Given the description of an element on the screen output the (x, y) to click on. 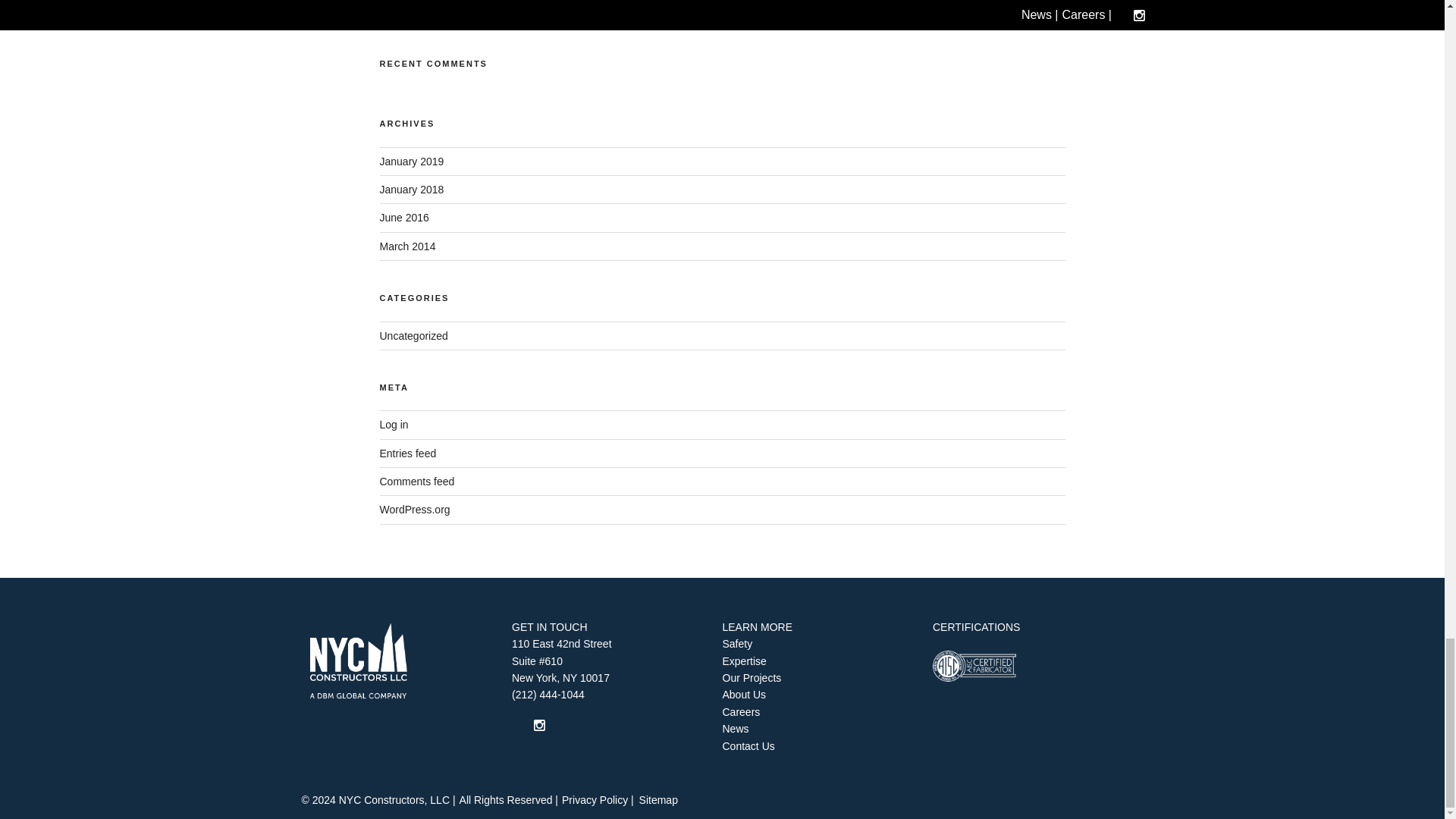
June 2016 (403, 217)
Uncategorized (412, 336)
Entries feed (406, 453)
The Top of America (424, 10)
Log in (392, 424)
January 2019 (411, 161)
January 2018 (411, 189)
March 2014 (406, 246)
